Given the description of an element on the screen output the (x, y) to click on. 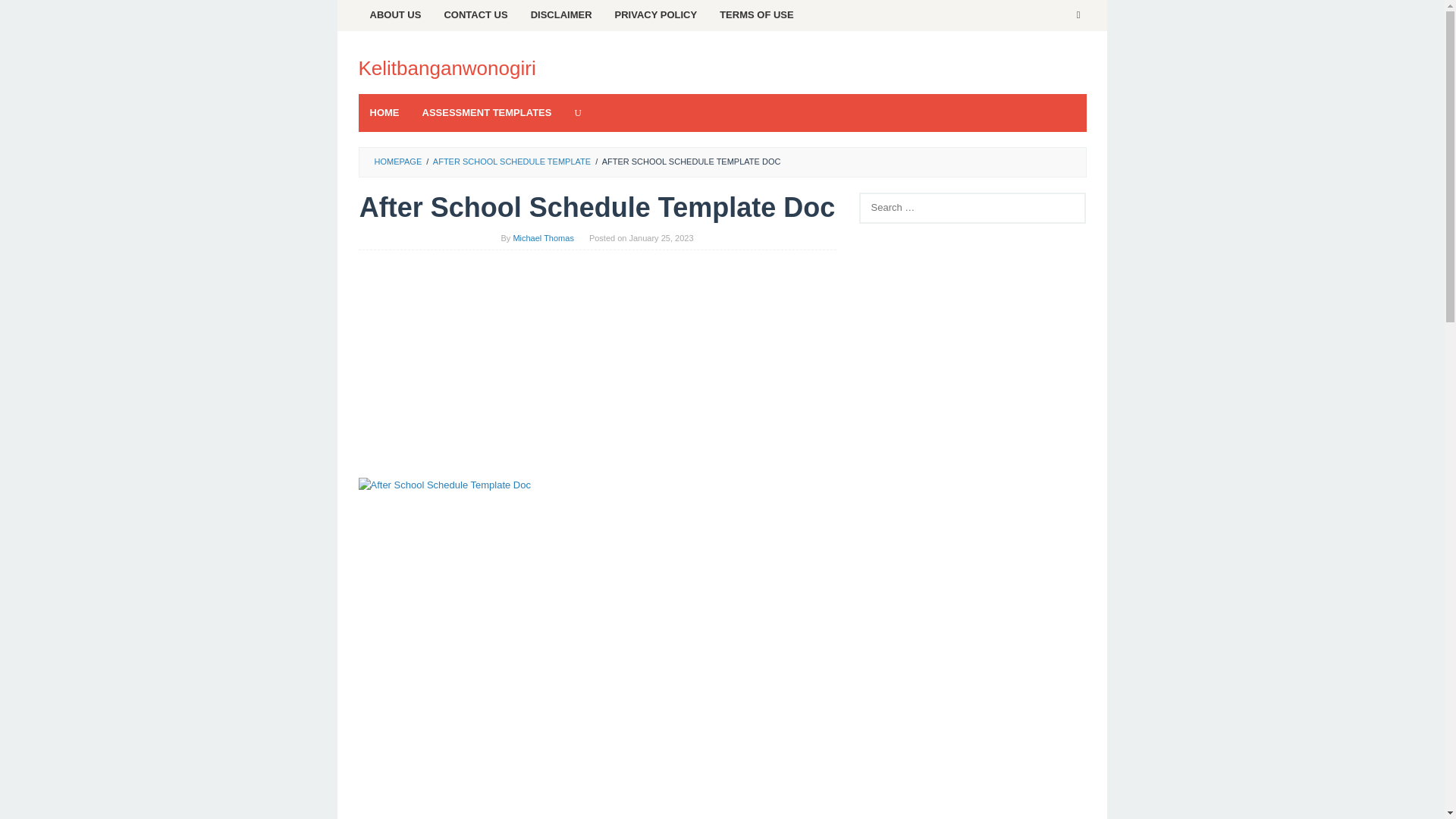
Kelitbanganwonogiri (446, 67)
DISCLAIMER (561, 15)
PRIVACY POLICY (656, 15)
Kelitbanganwonogiri (446, 67)
Permalink to: Michael Thomas (542, 237)
Search (27, 15)
Michael Thomas (542, 237)
ASSESSMENT TEMPLATES (486, 112)
CONTACT US (475, 15)
TERMS OF USE (756, 15)
